Given the description of an element on the screen output the (x, y) to click on. 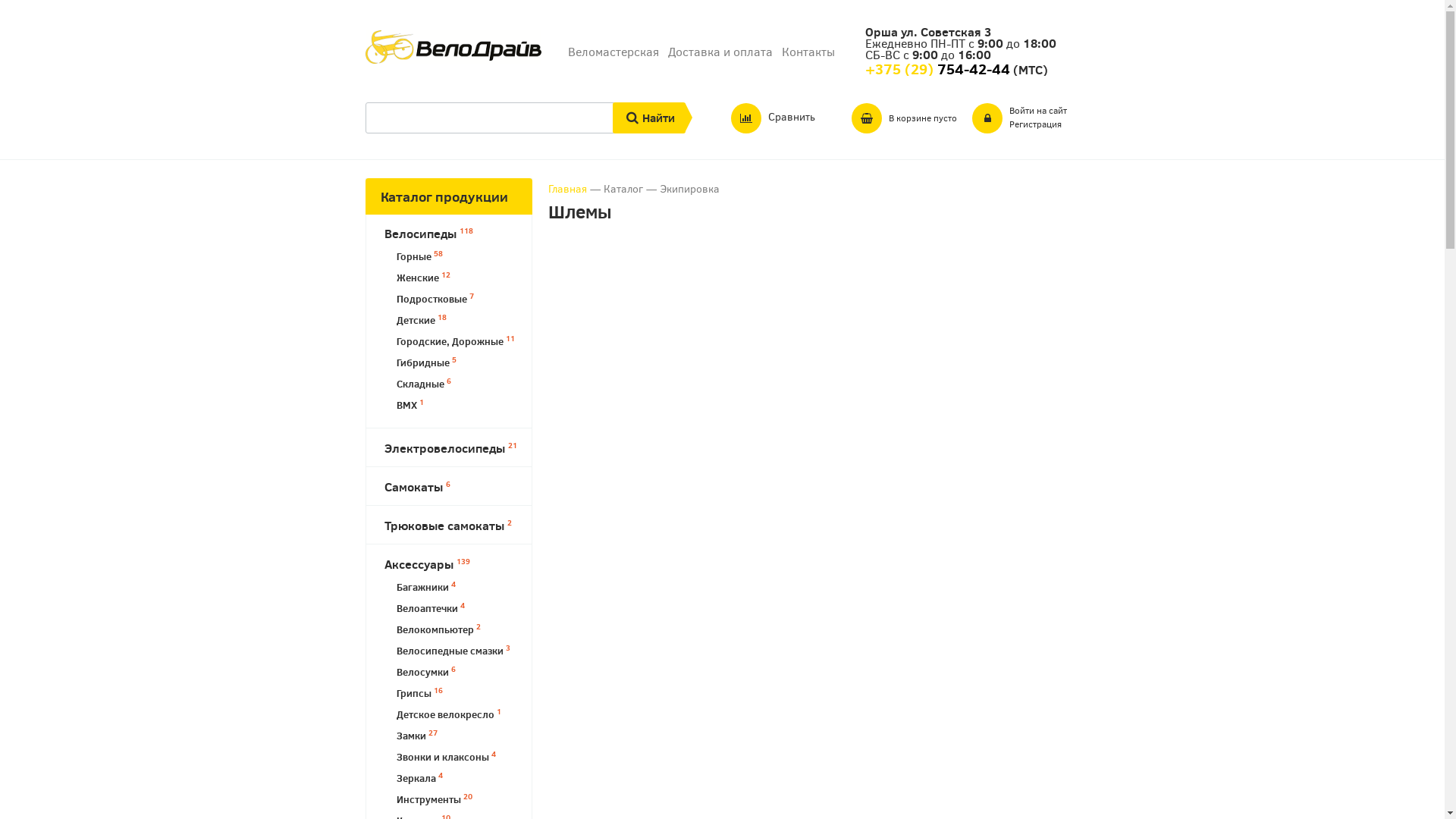
+375 (29) 754-42-44 Element type: text (937, 69)
BMX 1 Element type: text (461, 404)
